Given the description of an element on the screen output the (x, y) to click on. 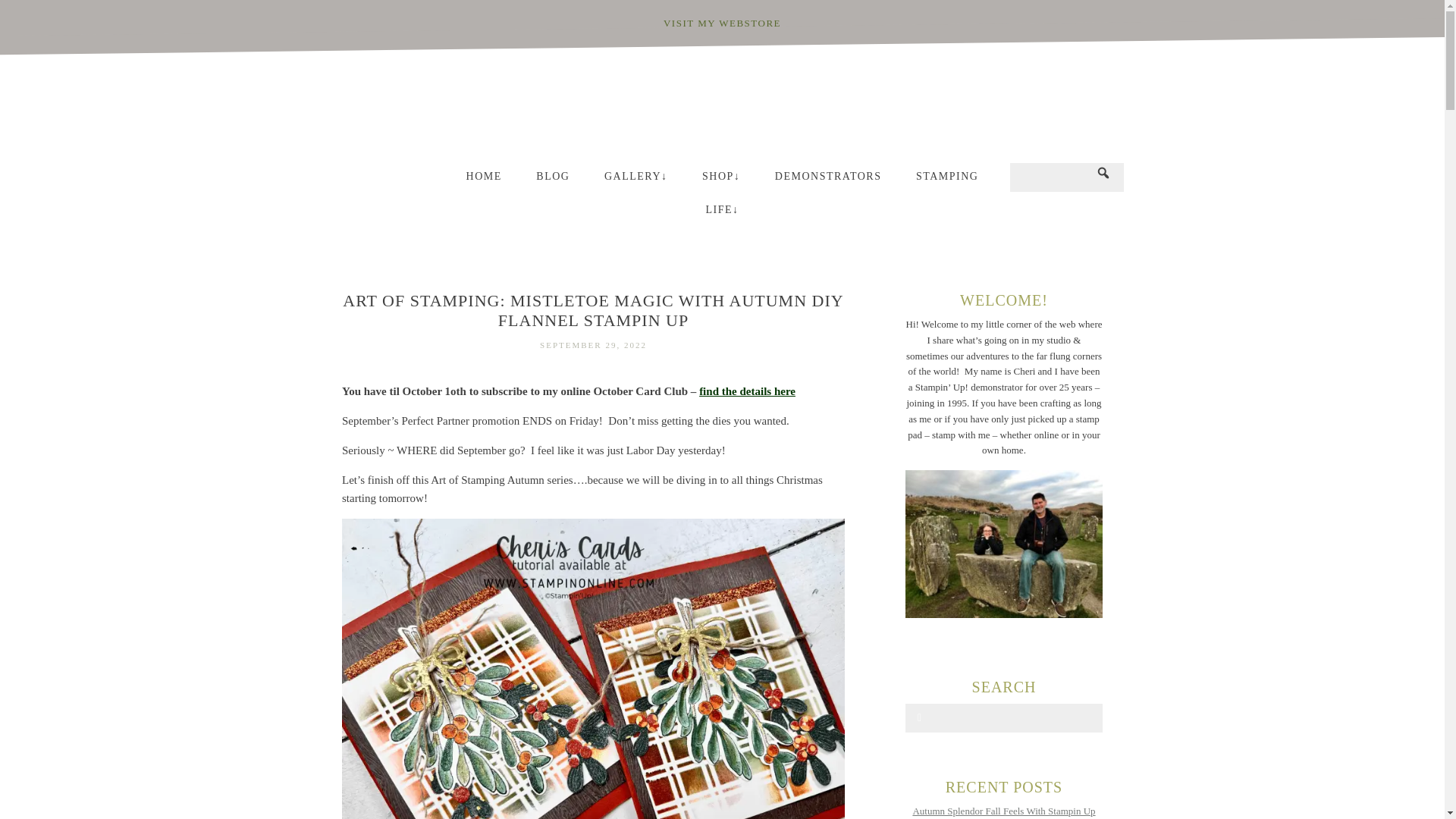
HOME (483, 180)
DEMONSTRATORS (828, 180)
CHERI'S CARDS (721, 107)
find the details here (746, 390)
BLOG (553, 180)
STAMPING (946, 180)
Search (42, 14)
VISIT MY WEBSTORE (721, 22)
